Given the description of an element on the screen output the (x, y) to click on. 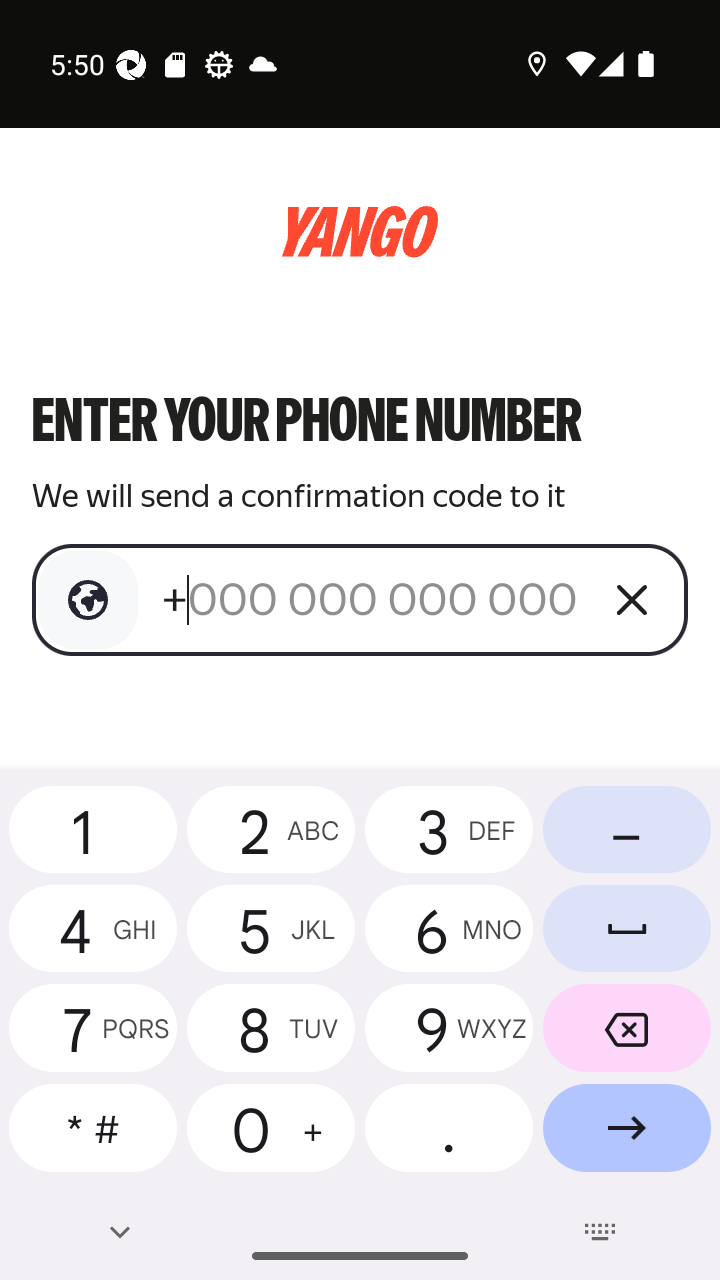
logo (359, 231)
  (88, 600)
+ (372, 599)
